Given the description of an element on the screen output the (x, y) to click on. 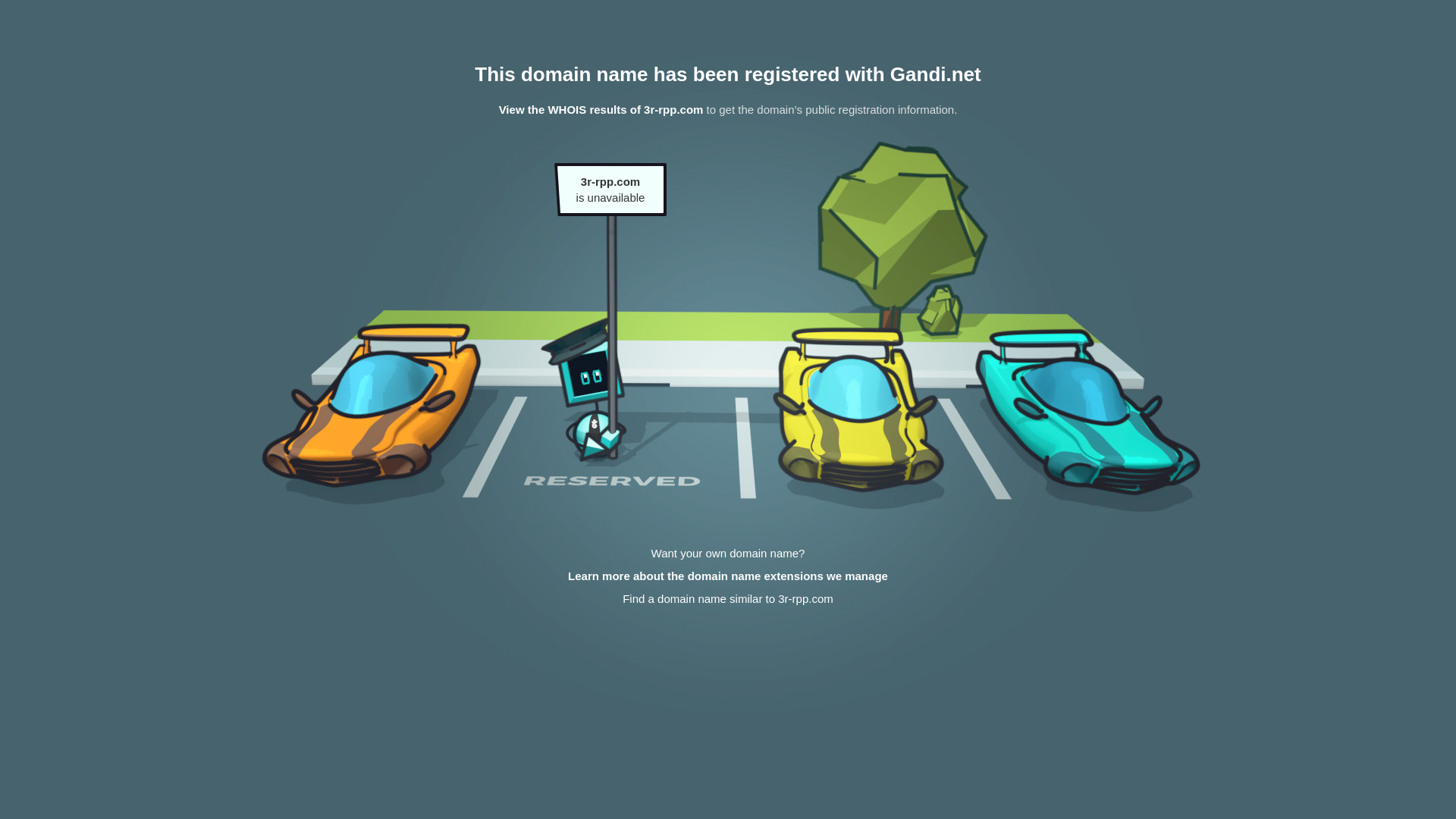
Find a domain name similar to 3r-rpp.com Element type: text (727, 598)
Learn more about the domain name extensions we manage Element type: text (727, 575)
View the WHOIS results of 3r-rpp.com Element type: text (600, 109)
